Given the description of an element on the screen output the (x, y) to click on. 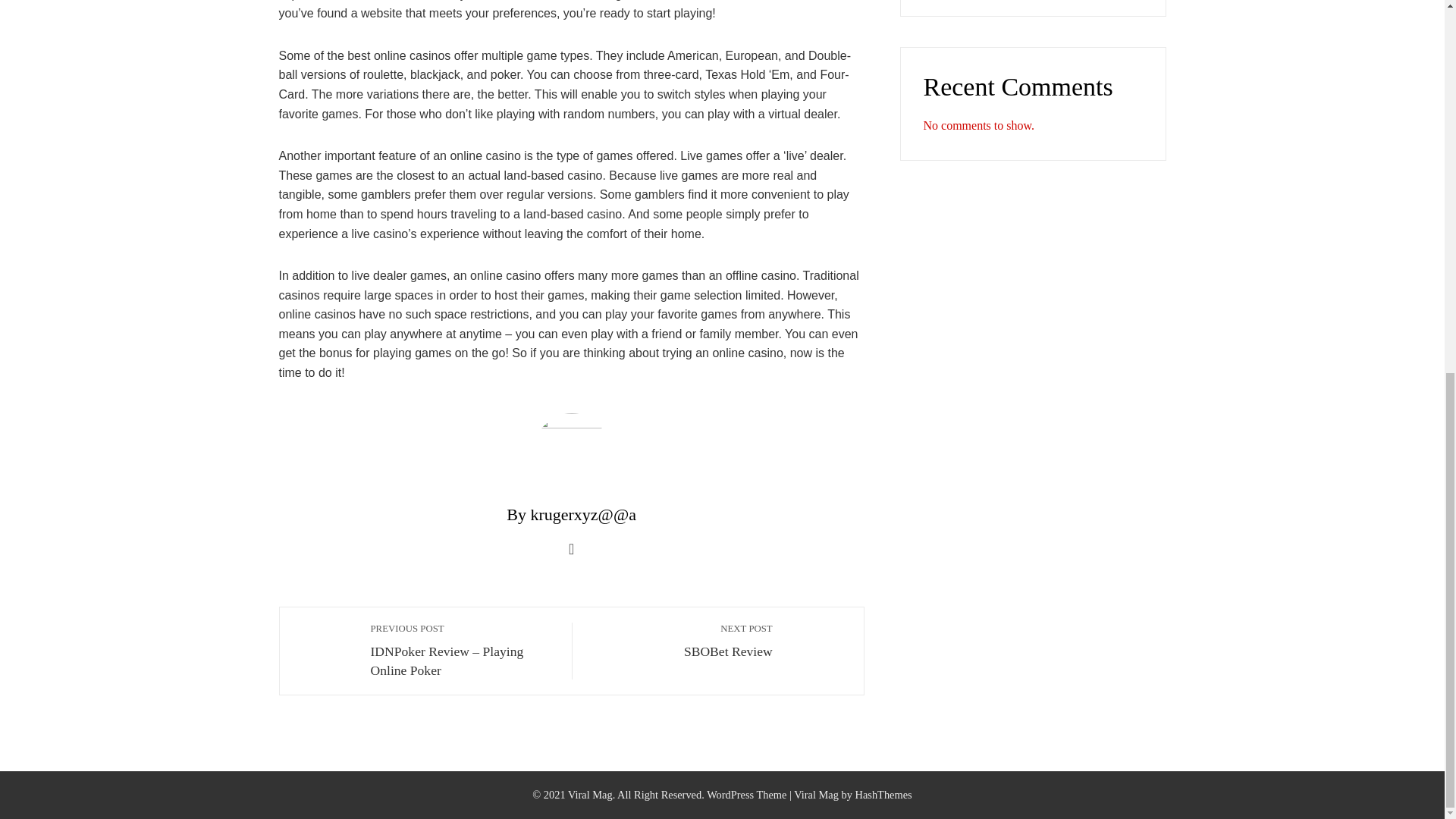
Viral Mag (815, 794)
Download Viral News (680, 640)
